Given the description of an element on the screen output the (x, y) to click on. 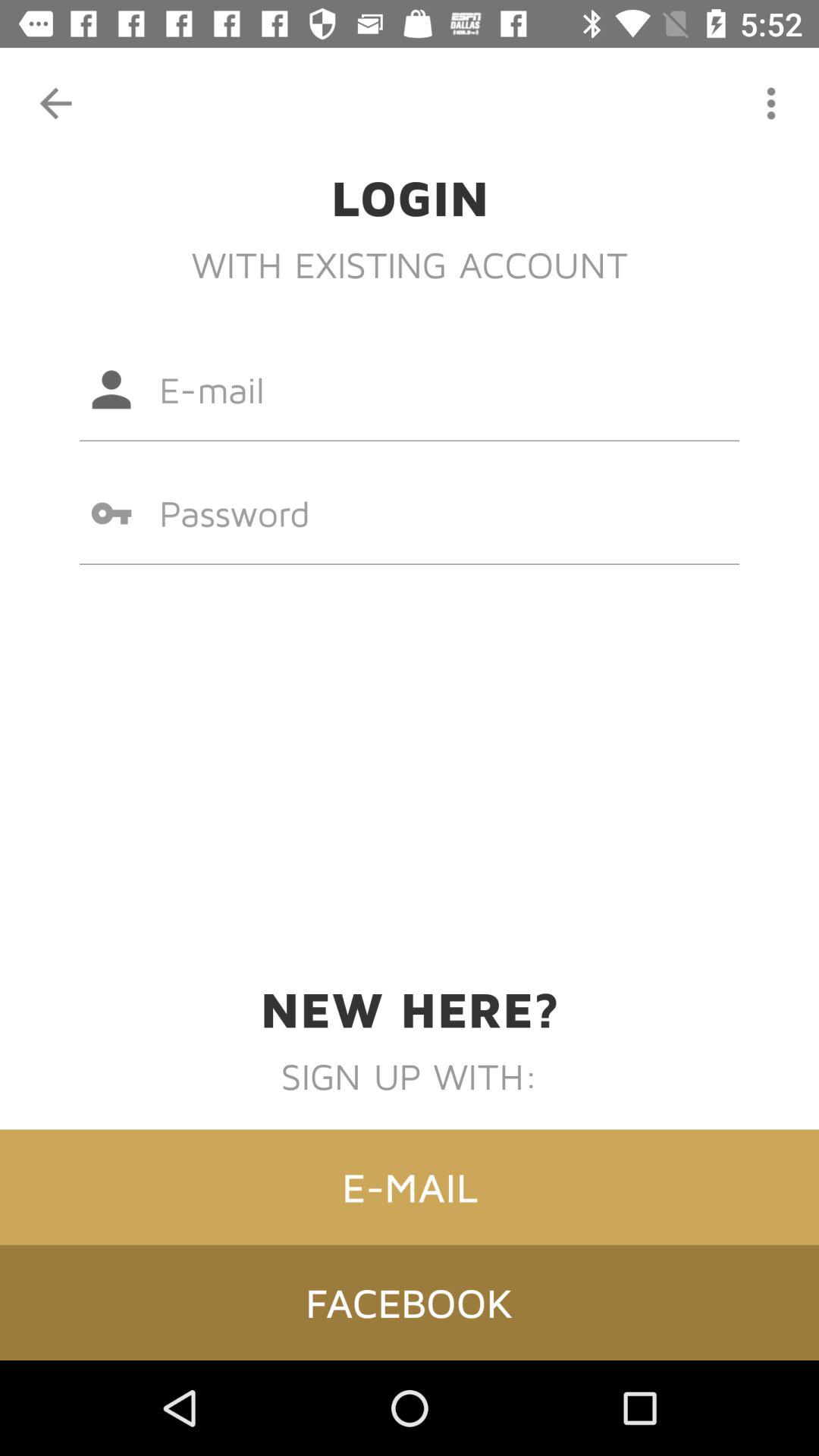
press item below the e-mail (409, 1302)
